Given the description of an element on the screen output the (x, y) to click on. 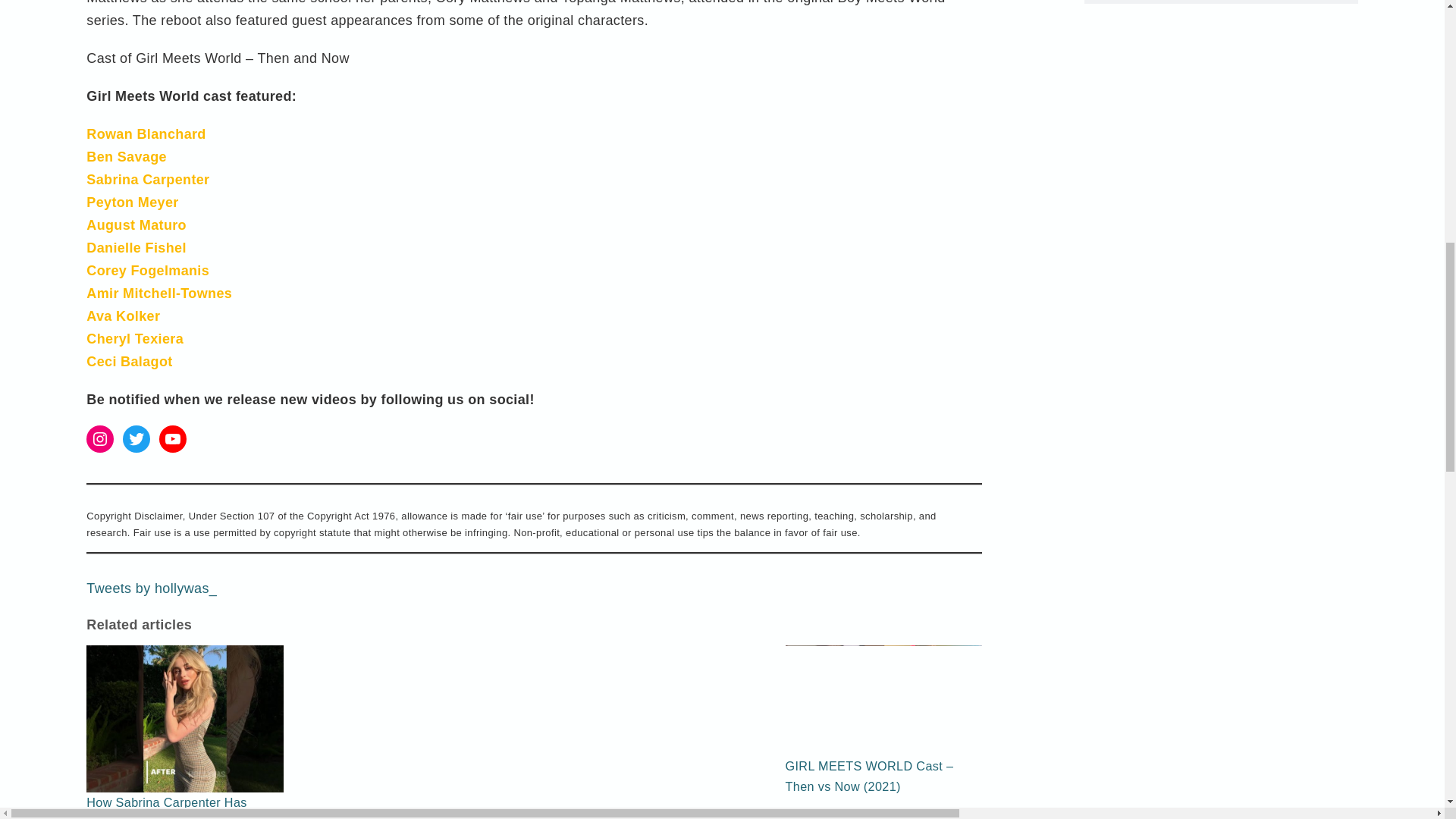
Instagram (99, 438)
How Sabrina Carpenter Has Changed Over The Years (184, 764)
Twitter (135, 438)
YouTube (172, 438)
